Given the description of an element on the screen output the (x, y) to click on. 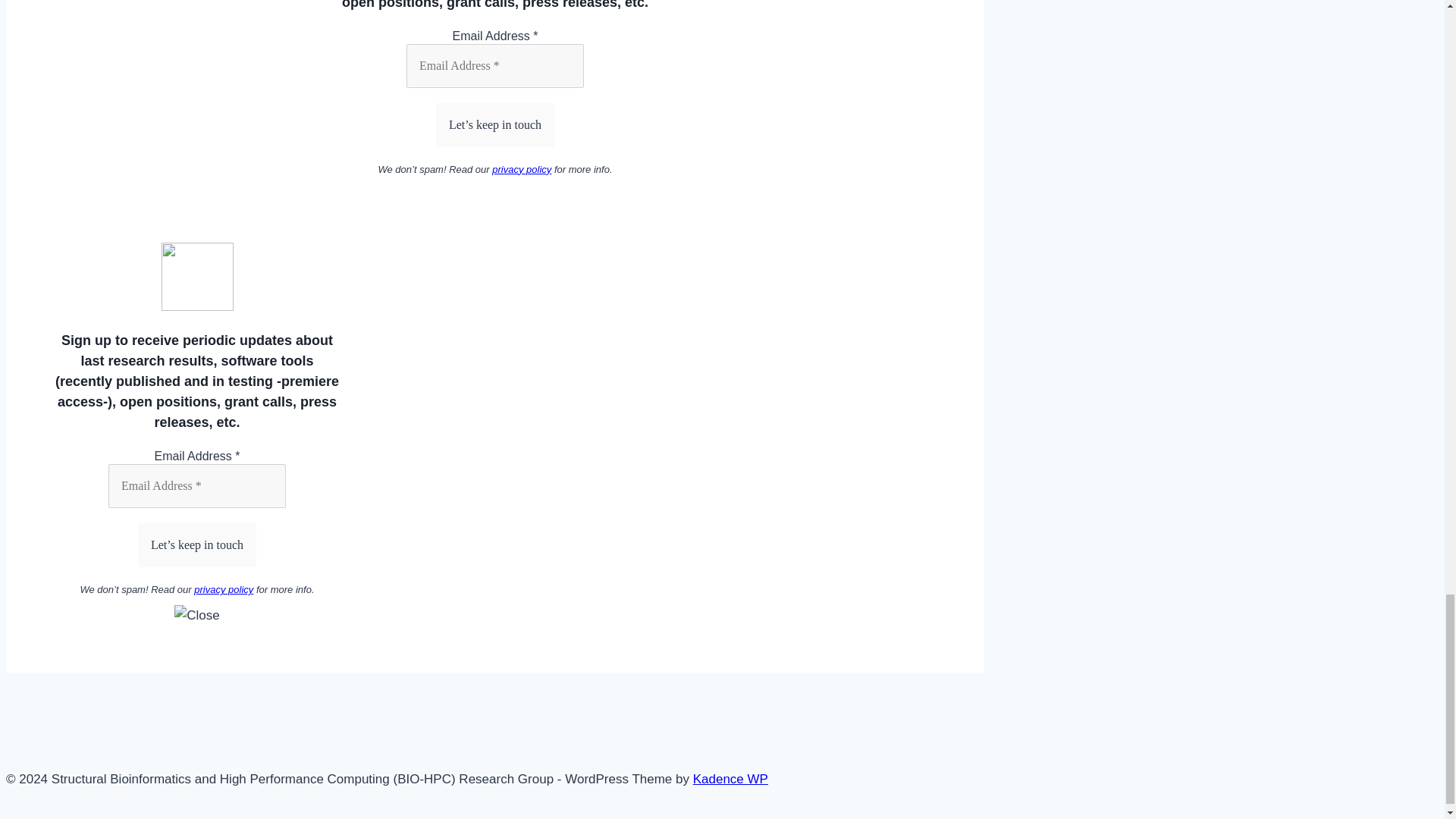
Email Address (494, 65)
Email Address (196, 485)
